Given the description of an element on the screen output the (x, y) to click on. 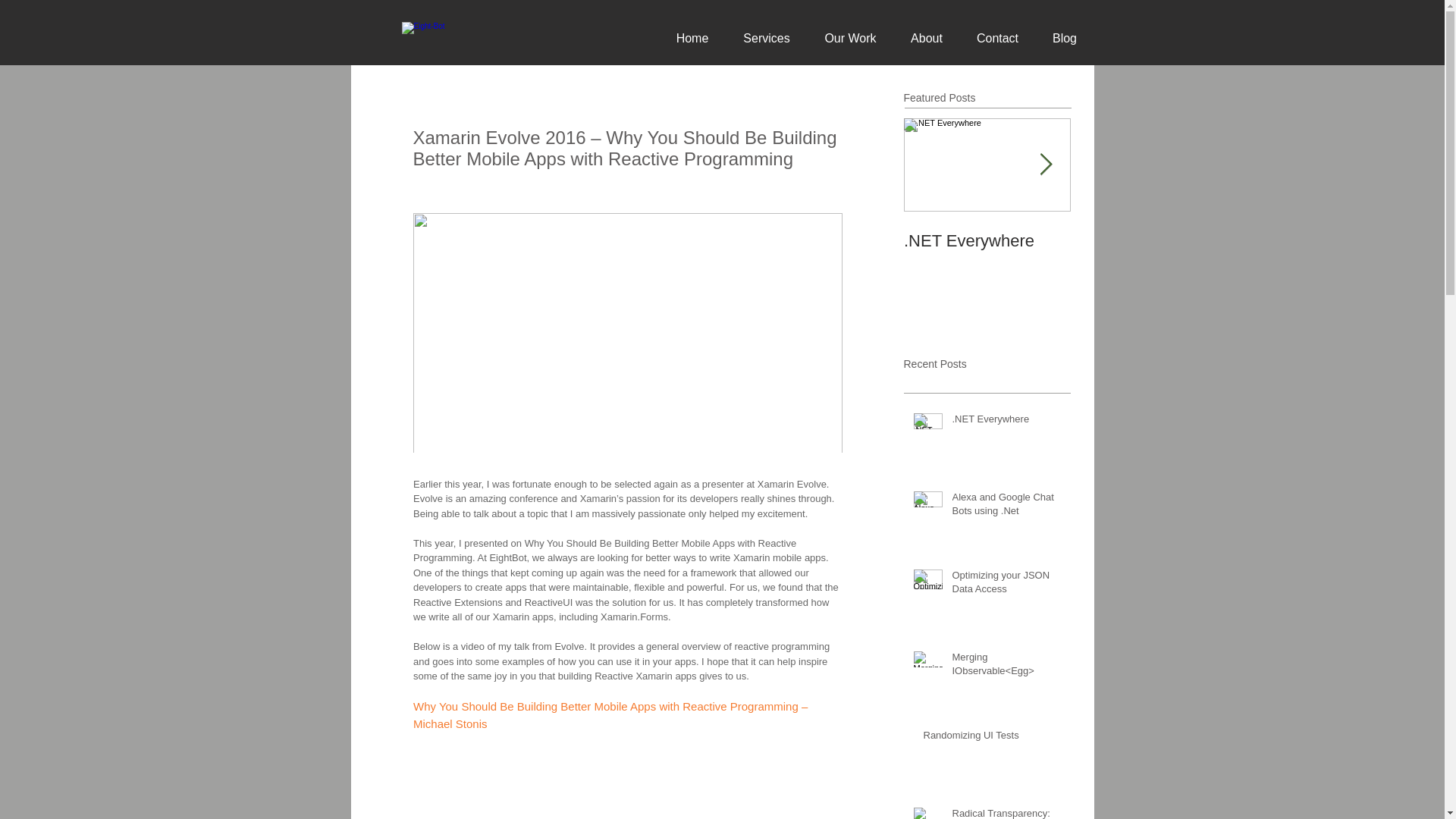
.NET Everywhere (1006, 422)
Services (767, 38)
Randomizing UI Tests (992, 738)
eight-bot-logo.png (492, 38)
About (926, 38)
Optimizing your JSON Data Access (1006, 584)
Home (691, 38)
Alexa and Google Chat Bots using .Net (1006, 507)
Blog (1064, 38)
.NET Everywhere (987, 240)
